Given the description of an element on the screen output the (x, y) to click on. 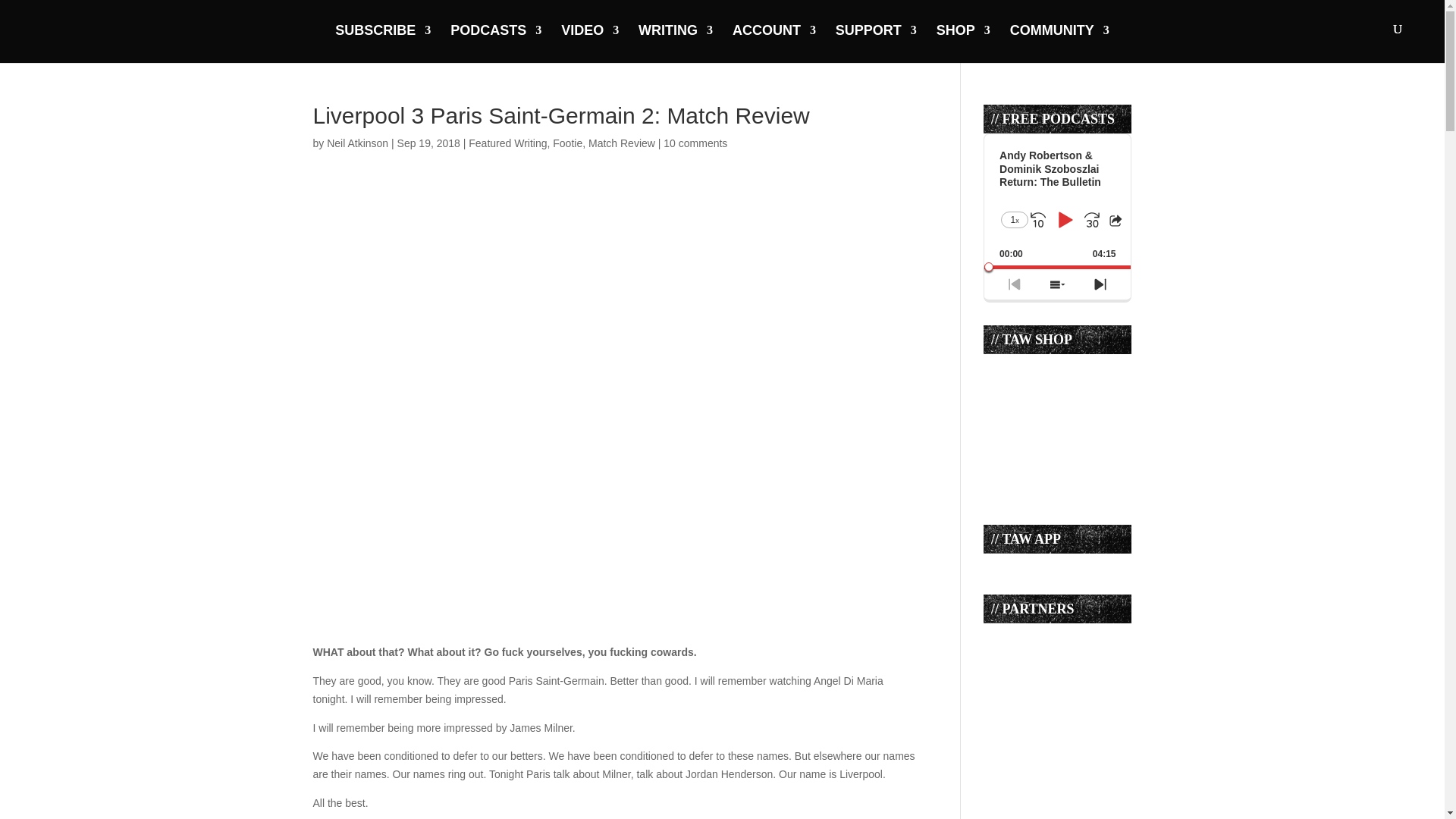
0 (1057, 267)
SUBSCRIBE (382, 42)
SUPPORT (876, 42)
Posts by Neil Atkinson (357, 143)
SHOP (963, 42)
WRITING (676, 42)
ACCOUNT (773, 42)
PODCASTS (495, 42)
COMMUNITY (1059, 42)
VIDEO (589, 42)
